Given the description of an element on the screen output the (x, y) to click on. 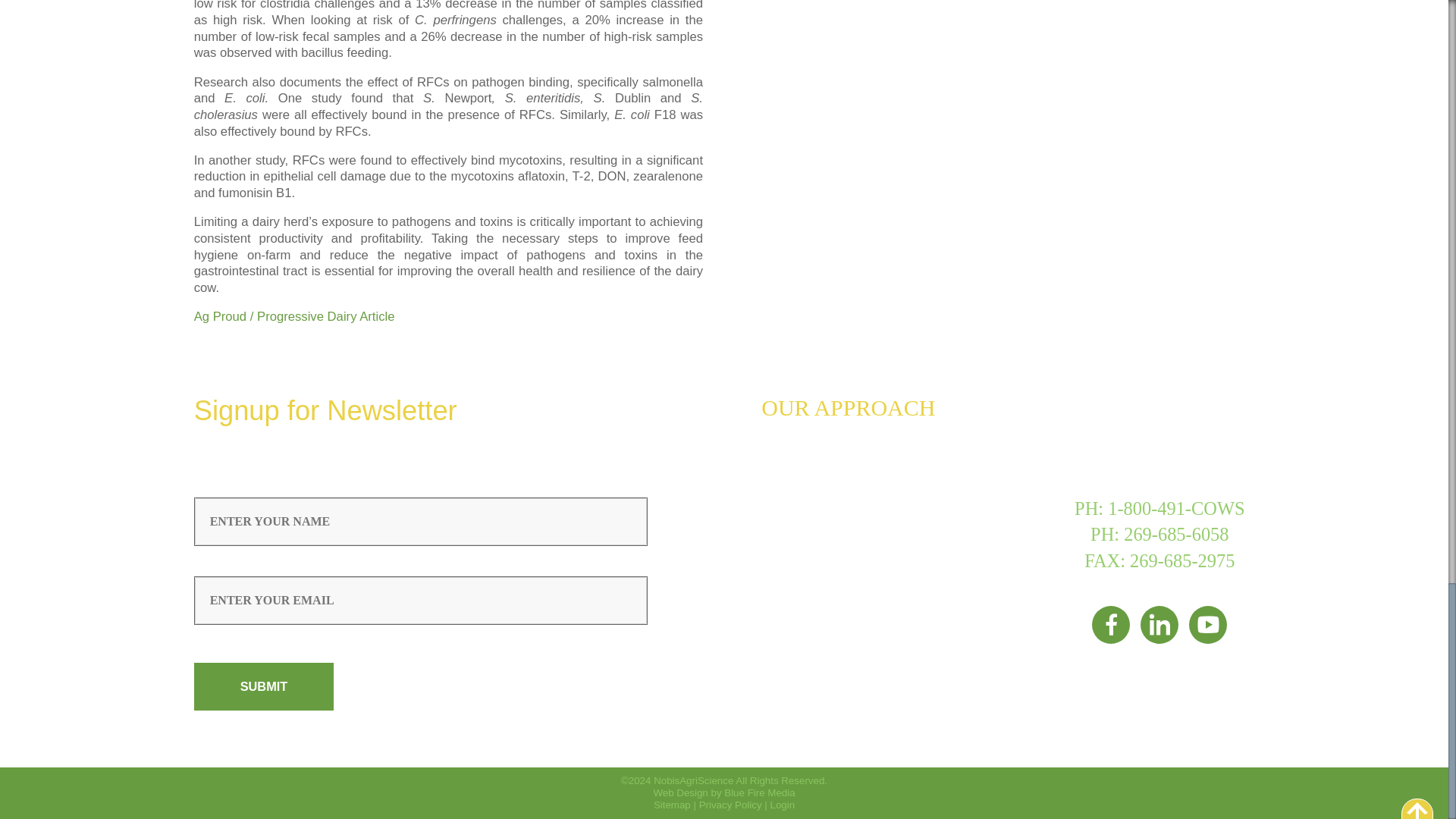
Click here to view the Sitemap page of this website. (671, 804)
SUBMIT (263, 686)
Sitemap (671, 804)
Privacy Policy (729, 804)
Web Design (679, 792)
Login (782, 804)
TRACKING (809, 480)
PEOPLE FOCUS (827, 551)
NUTRITION (811, 444)
269-685-6058 (1176, 534)
Click here to login to this website. (782, 804)
269-685-2975 (1181, 560)
1-800-491-COWS (1176, 507)
Click here to view the Privacy Policy page of this website. (729, 804)
